Given the description of an element on the screen output the (x, y) to click on. 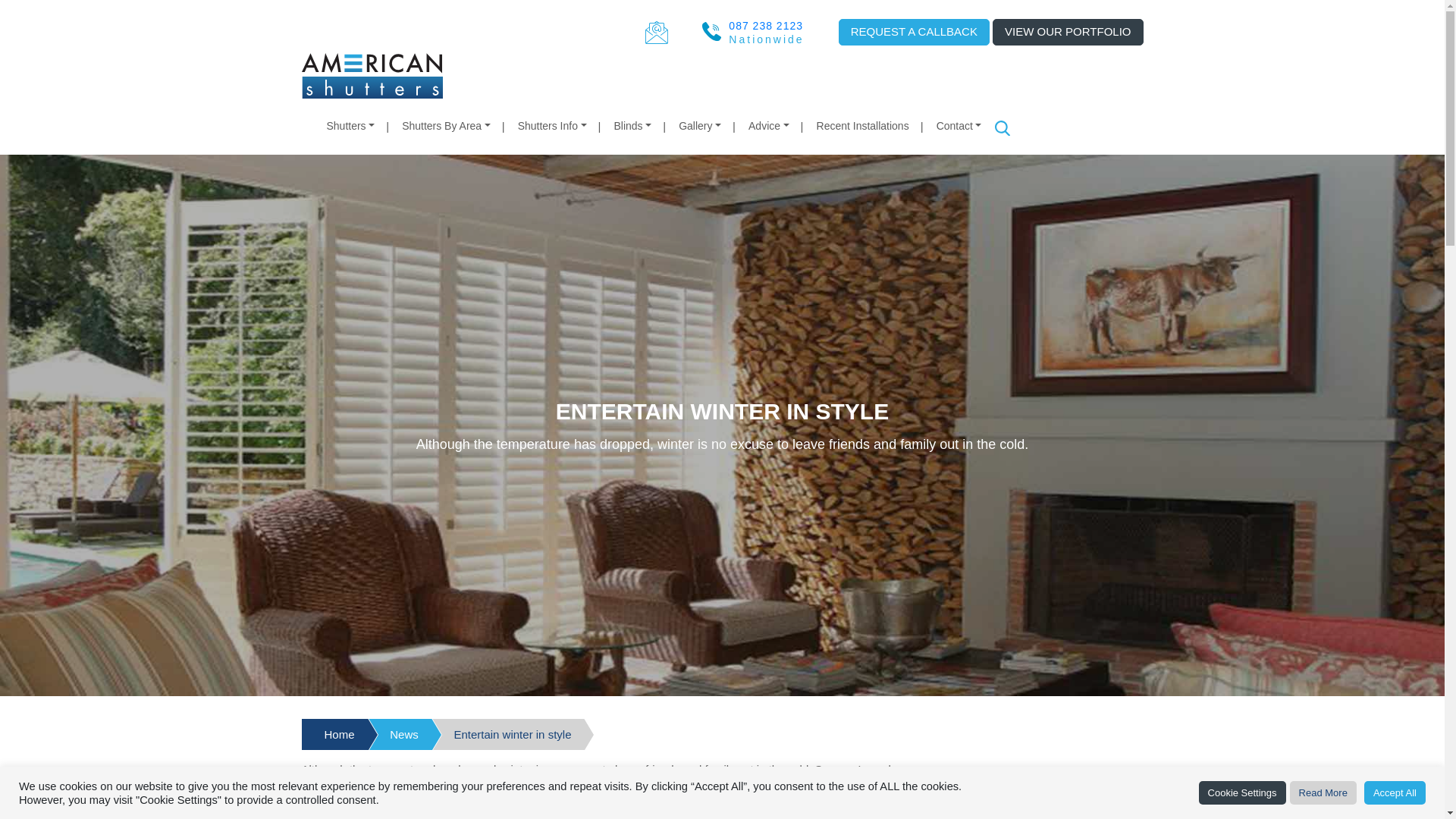
Shutters By Area (445, 125)
Shutters (350, 125)
REQUEST A CALLBACK (914, 31)
Blinds (632, 125)
AMERICAN Shutters (371, 74)
Gallery (700, 125)
Shutters Info (551, 125)
087 238 2123 (766, 25)
VIEW OUR PORTFOLIO (1067, 31)
